Given the description of an element on the screen output the (x, y) to click on. 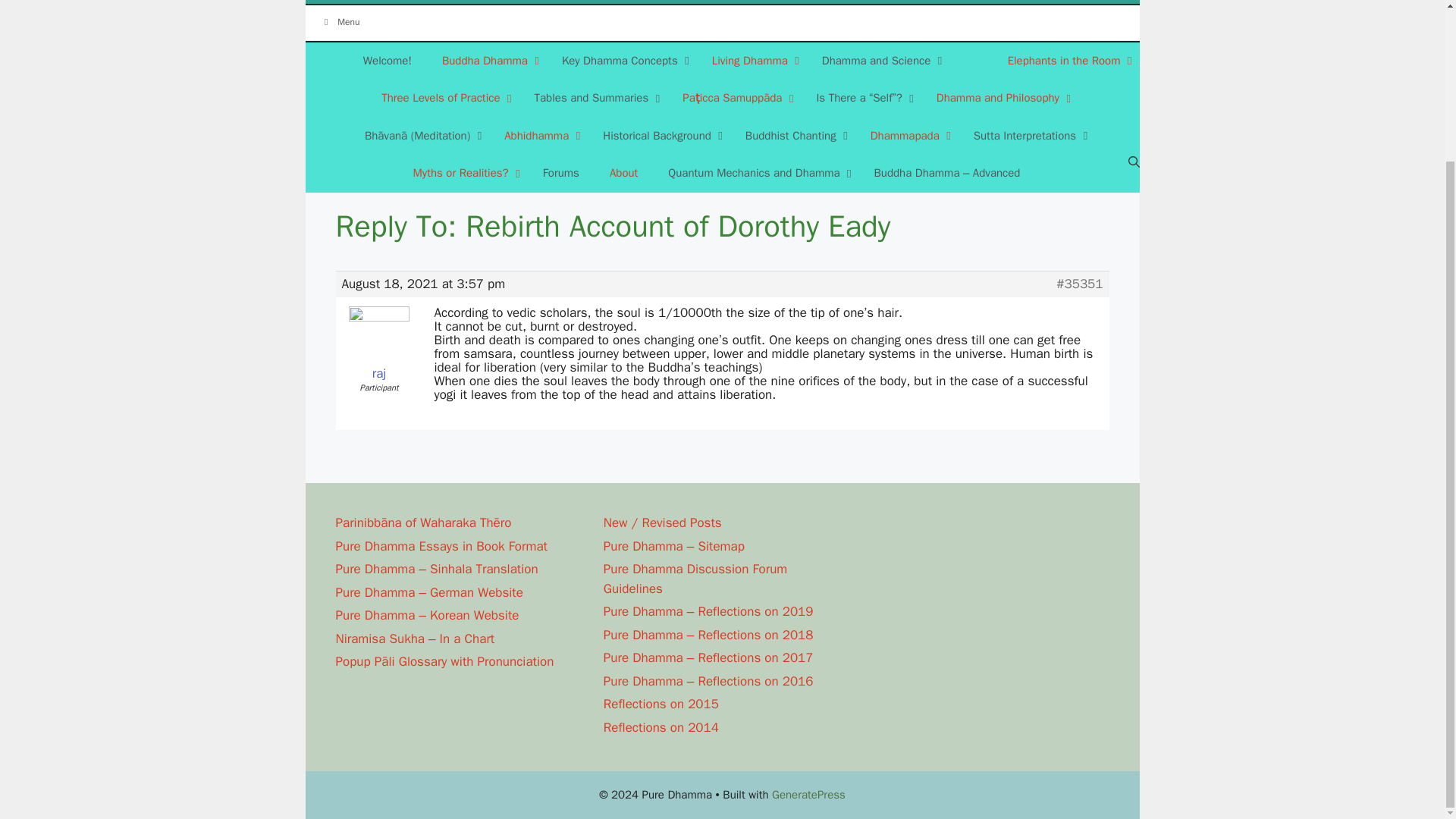
View raj's profile (378, 344)
Menu (721, 22)
Elephants in the Room (1066, 61)
Buddha Dhamma (486, 61)
Welcome! (386, 61)
